Given the description of an element on the screen output the (x, y) to click on. 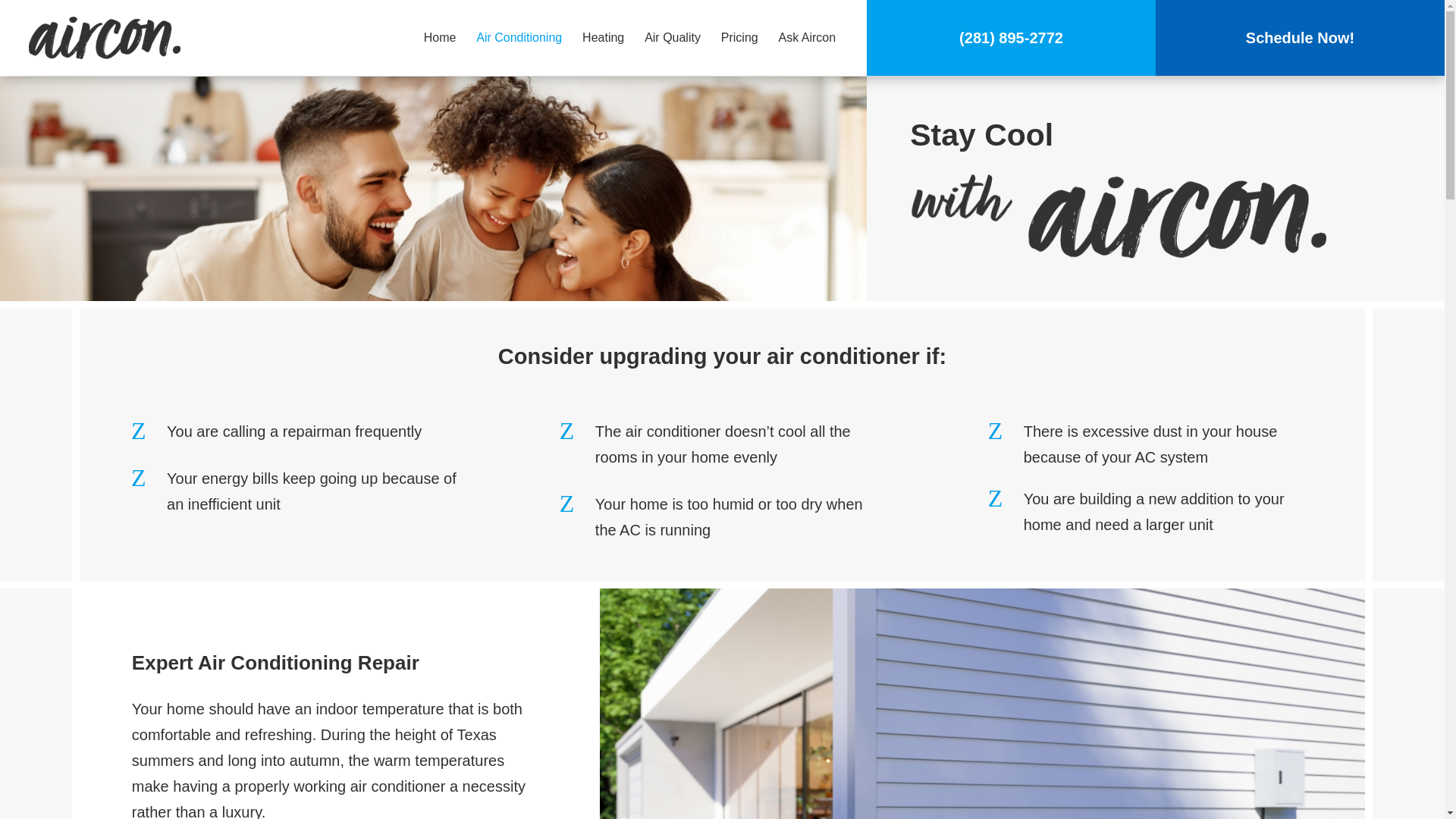
with aircon (1118, 208)
Air Quality (672, 37)
Air Conditioning (519, 37)
Ask Aircon (806, 37)
